Given the description of an element on the screen output the (x, y) to click on. 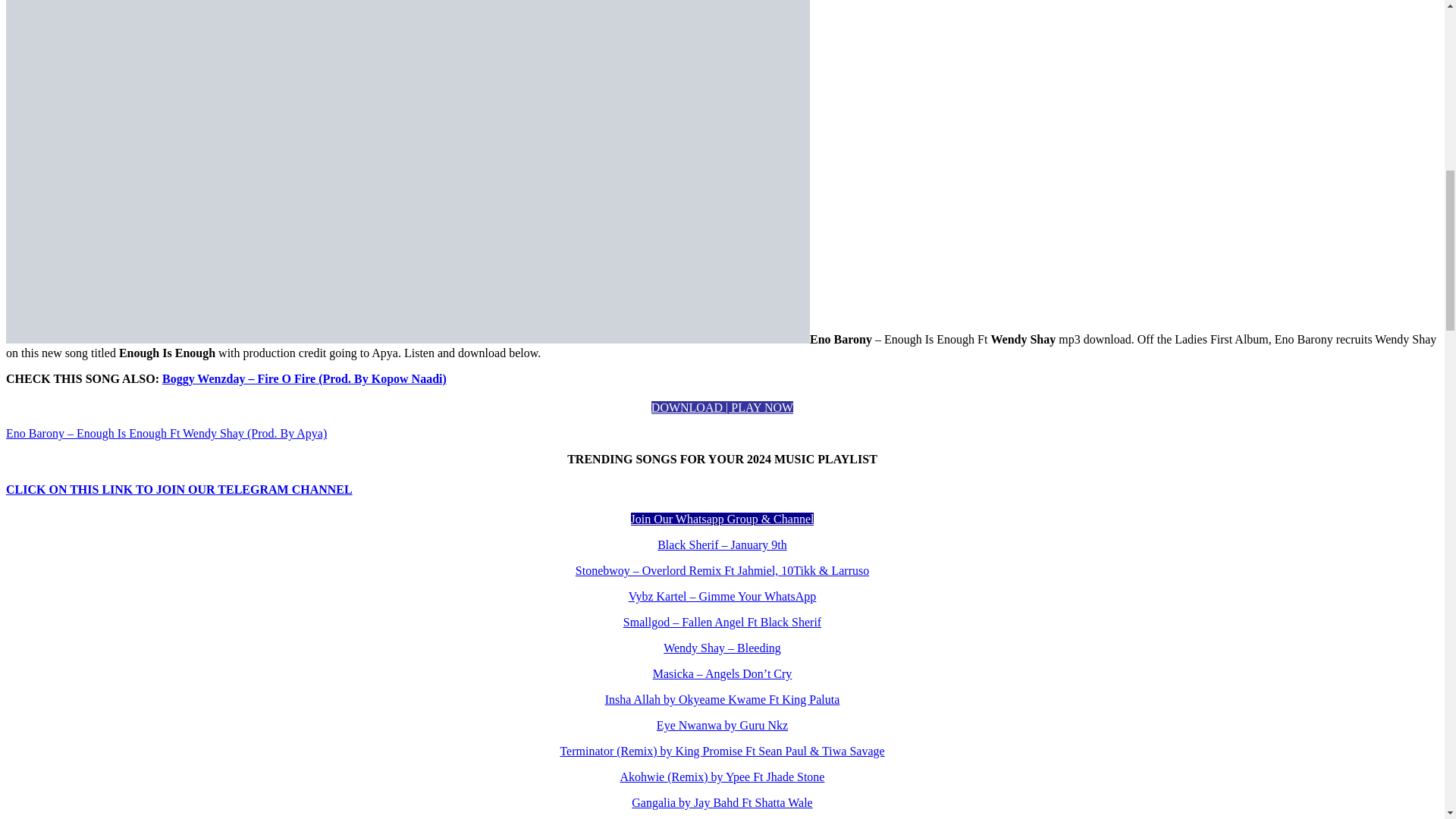
Gangalia by Jay Bahd Ft Shatta Wale (721, 802)
Eye Nwanwa by Guru Nkz (721, 725)
CLICK ON THIS LINK TO JOIN OUR TELEGRAM CHANNEL (178, 489)
Insha Allah by Okyeame Kwame Ft King Paluta (722, 698)
